Given the description of an element on the screen output the (x, y) to click on. 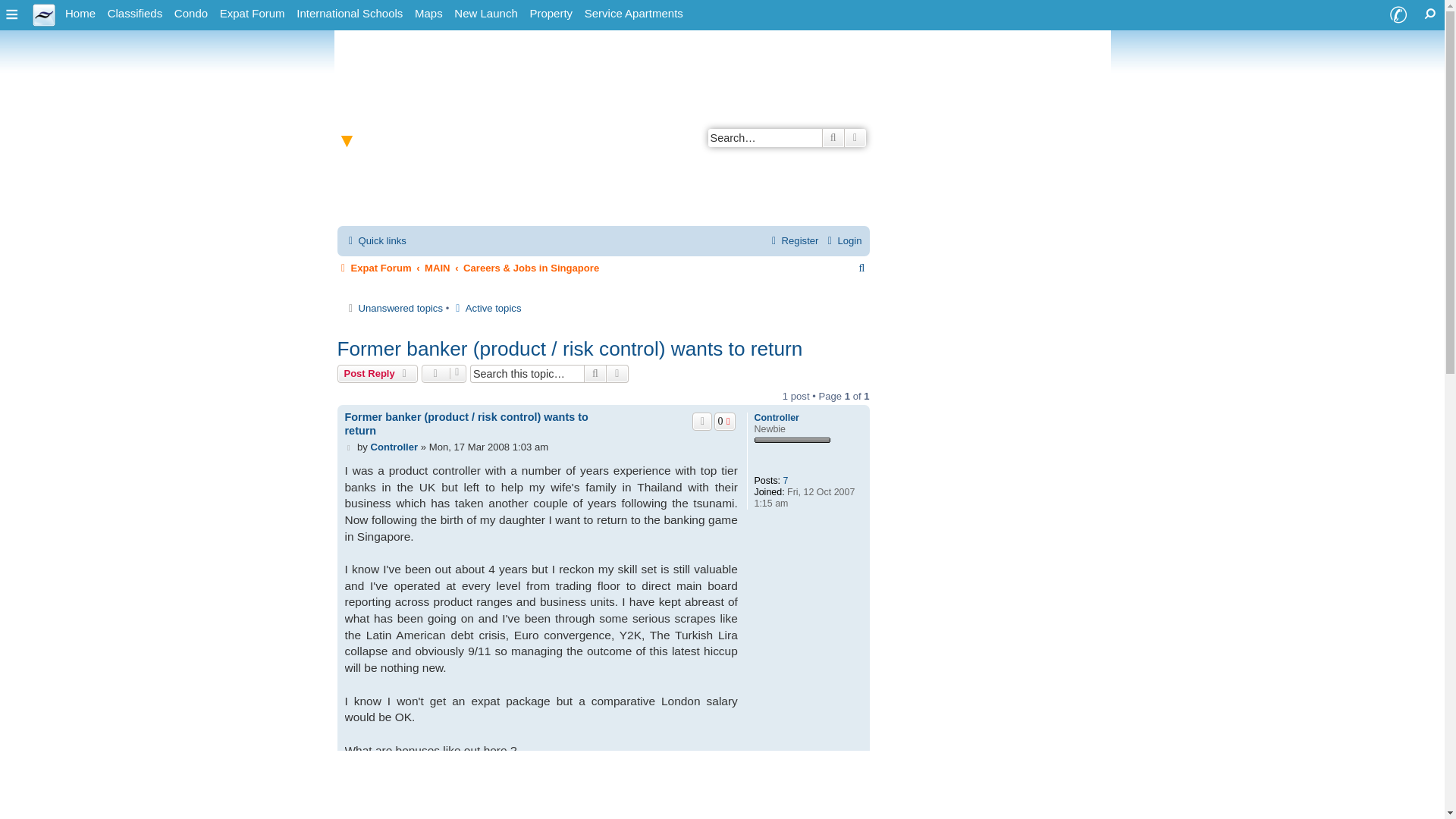
Home (80, 13)
Classifieds (135, 13)
Singapore International Schools (349, 13)
Singapore Property (550, 13)
Singapore Classified Ads (135, 13)
Singapore Street Maps (428, 13)
Singapore Expats Forum (252, 13)
New Launch (485, 13)
Expat Forum (252, 13)
Singapore Condo Directory (191, 13)
Service Apartments (633, 13)
Property (550, 13)
International Schools (349, 13)
Singapore Expats (80, 13)
Contact Us (1397, 15)
